Given the description of an element on the screen output the (x, y) to click on. 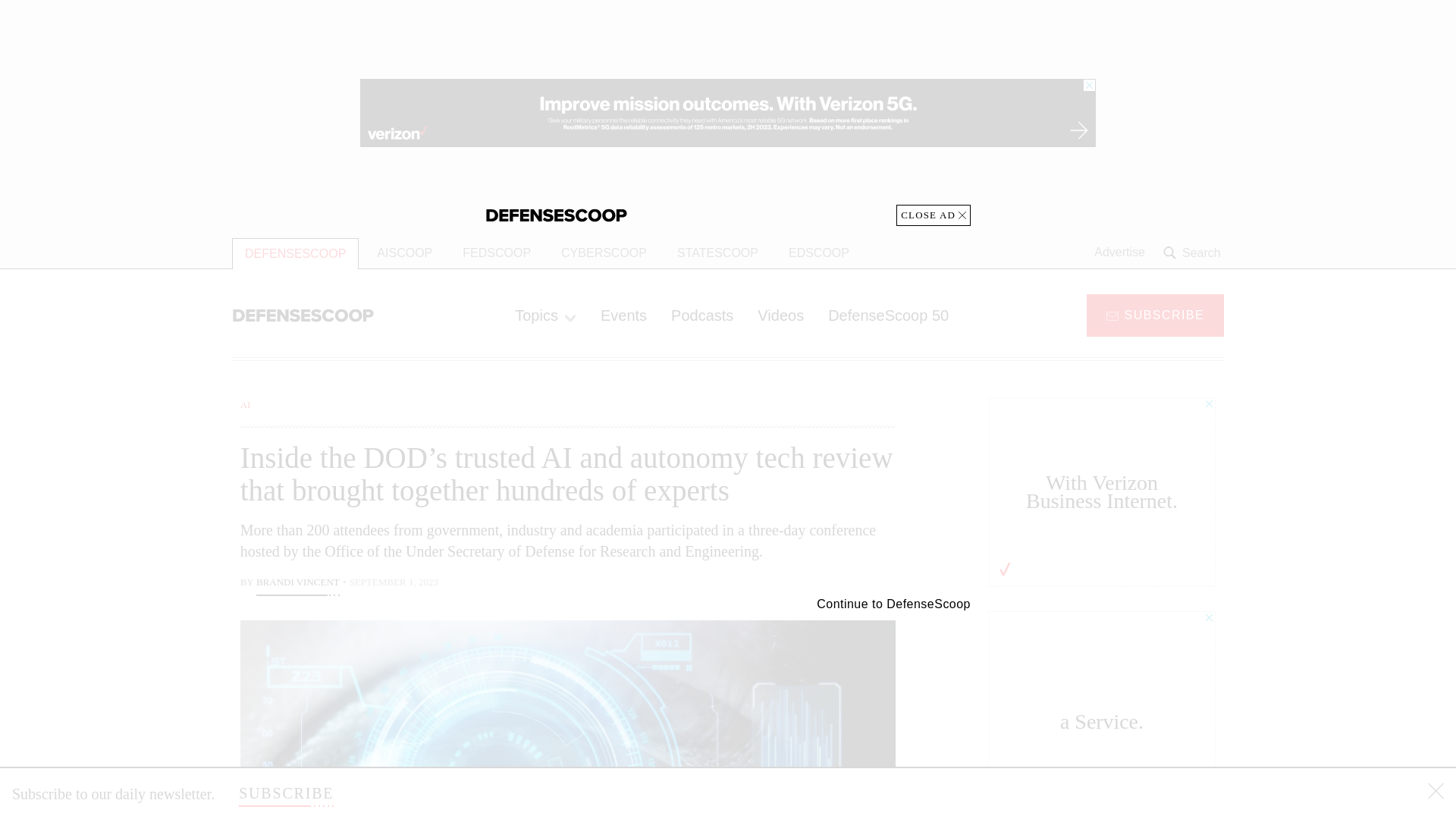
Videos (780, 315)
3rd party ad content (1101, 705)
Events (623, 315)
3rd party ad content (1101, 492)
Topics (545, 315)
3rd party ad content (727, 112)
SUBSCRIBE (1155, 314)
FEDSCOOP (496, 253)
